Given the description of an element on the screen output the (x, y) to click on. 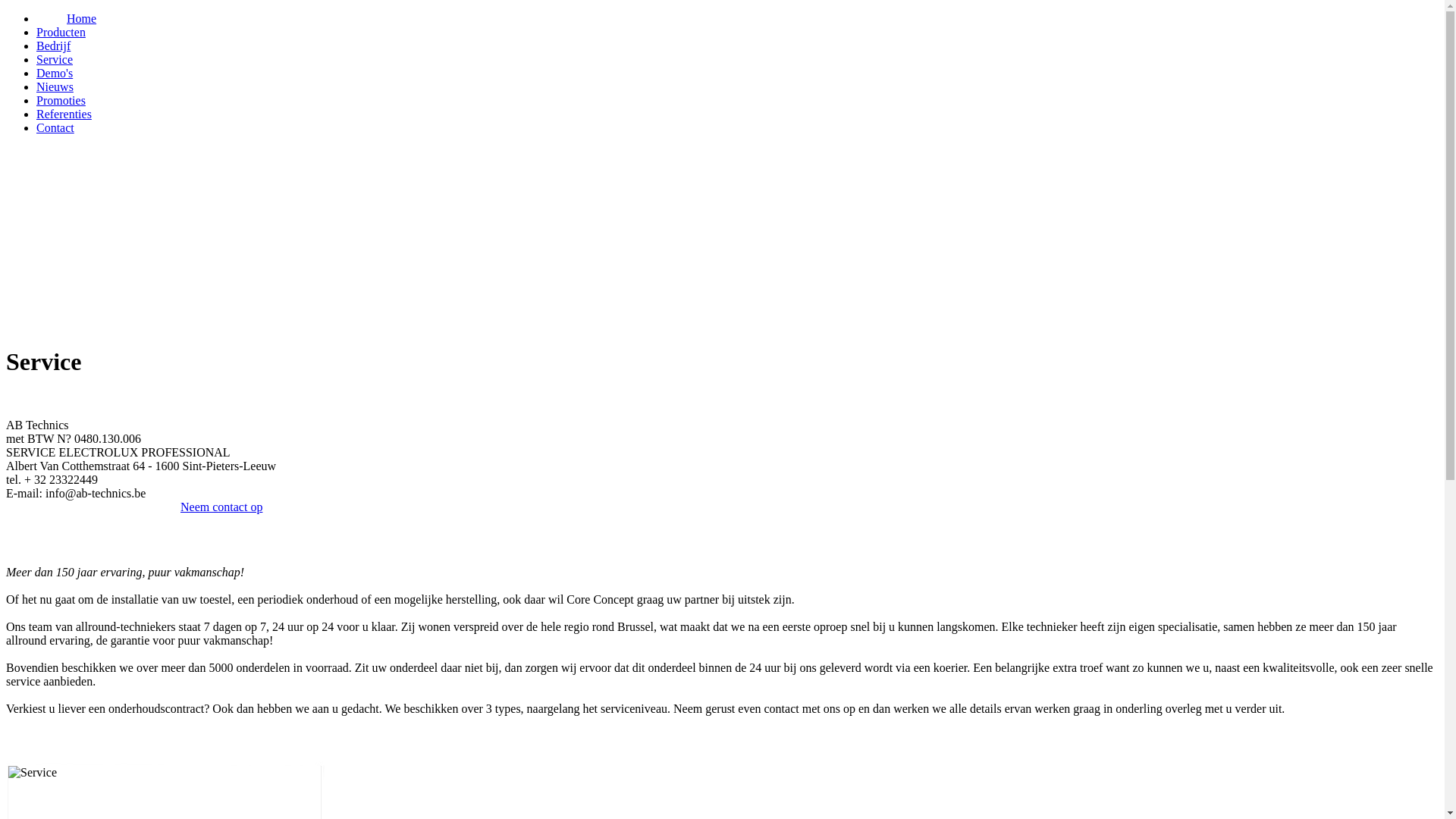
Bedrijf Element type: text (53, 45)
Home Element type: text (81, 18)
Referenties Element type: text (63, 113)
Producten Element type: text (60, 31)
Promoties Element type: text (60, 100)
Neem contact op Element type: text (221, 506)
Service Element type: text (54, 59)
Contact Element type: text (55, 127)
Nieuws Element type: text (54, 86)
Demo's Element type: text (54, 72)
